Given the description of an element on the screen output the (x, y) to click on. 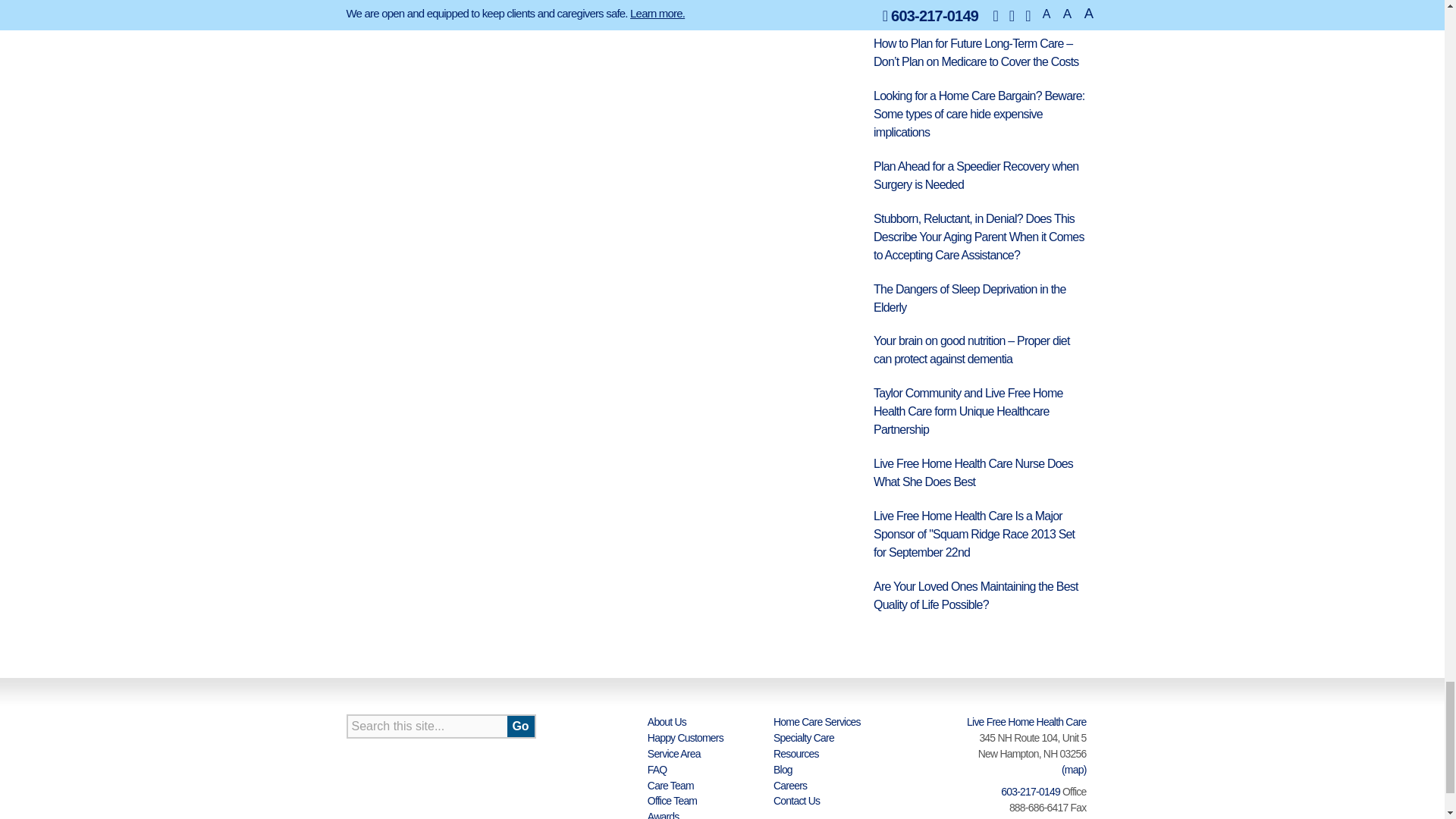
click to find us (1073, 769)
click to call us (1030, 791)
Go (520, 726)
